Given the description of an element on the screen output the (x, y) to click on. 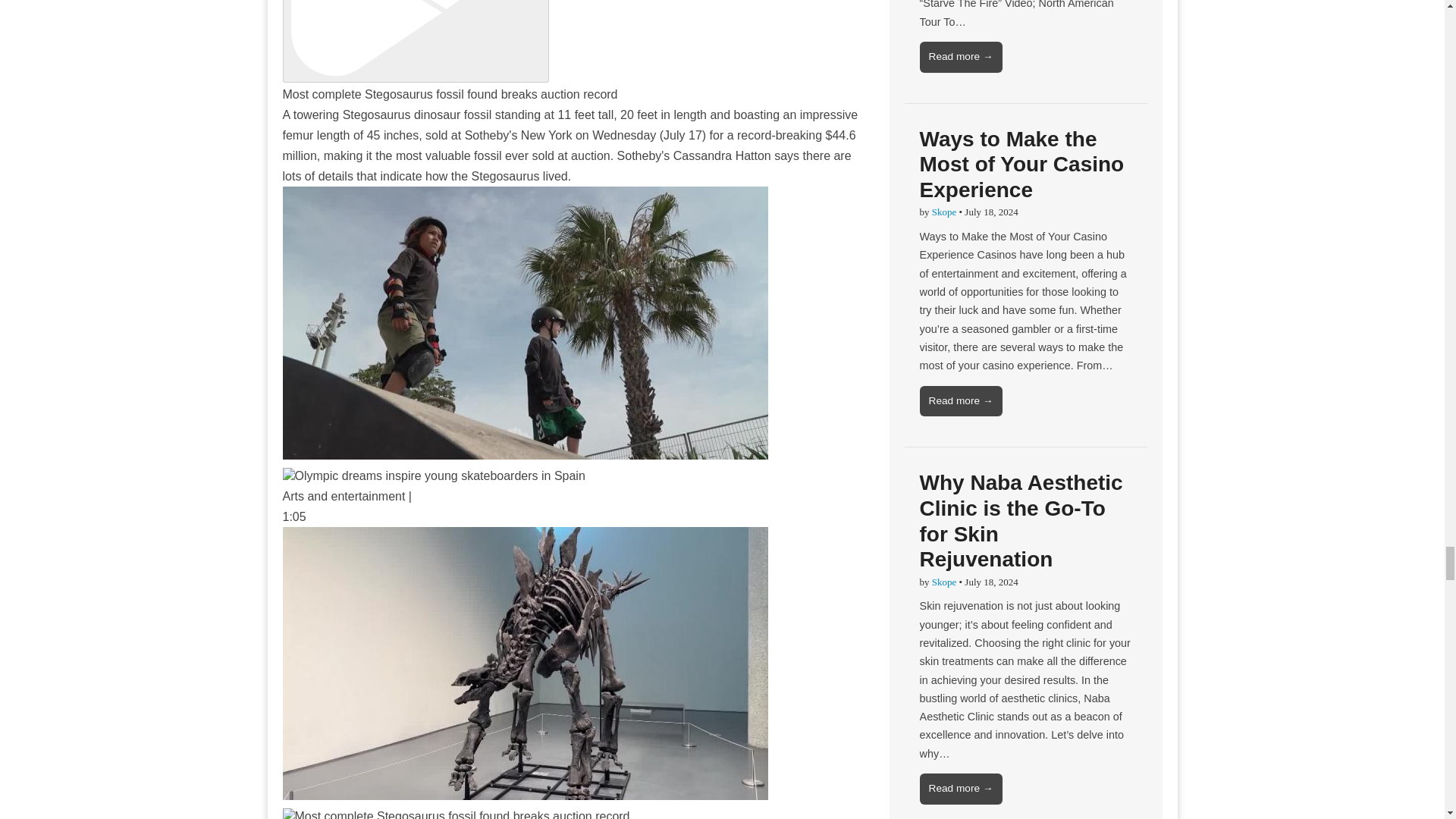
Posts by Skope (943, 211)
Posts by Skope (943, 582)
